Given the description of an element on the screen output the (x, y) to click on. 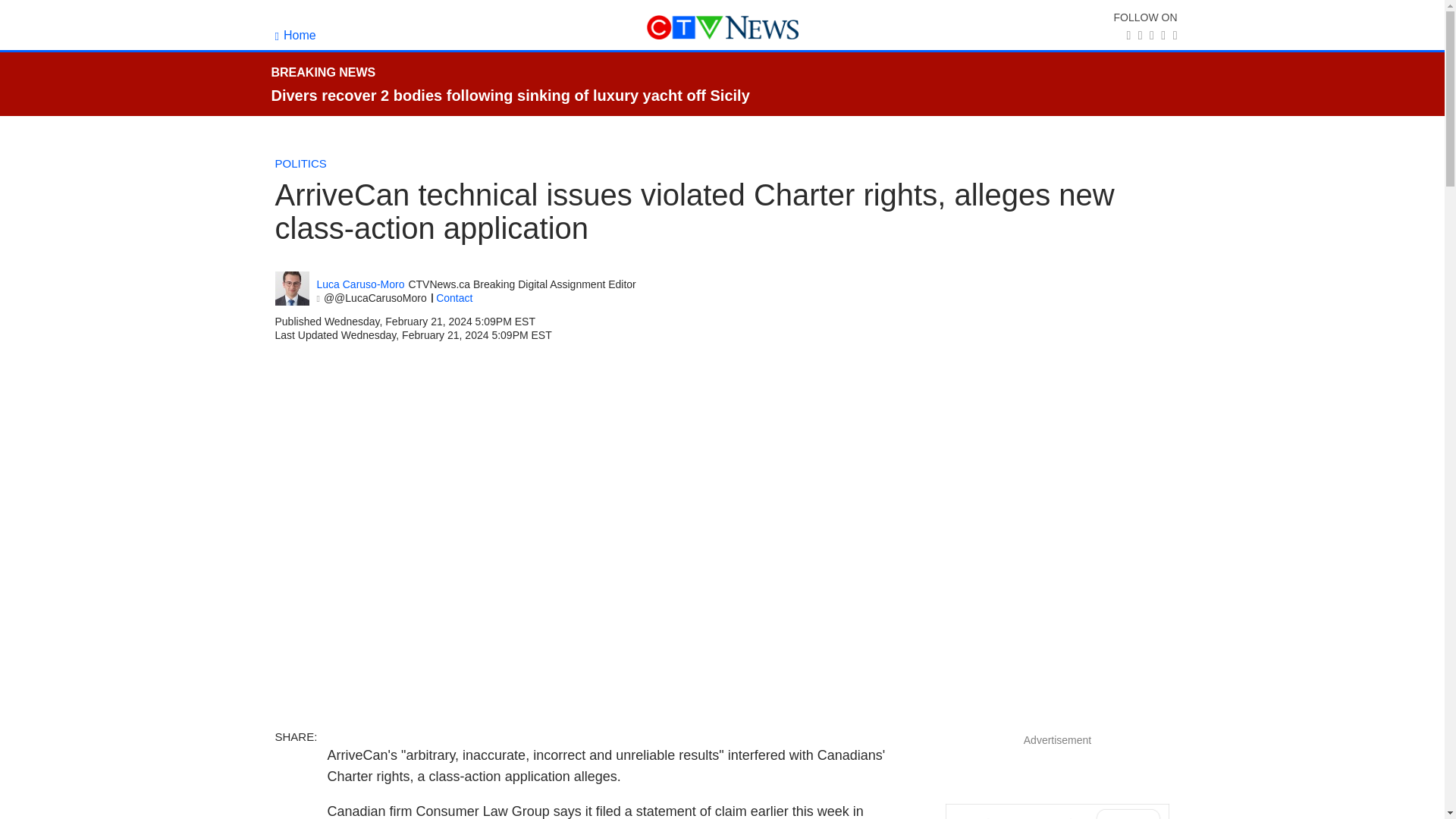
POLITICS (300, 163)
Contact (453, 297)
Luca Caruso-Moro (360, 284)
Home (295, 34)
CTV News App (1057, 811)
